Given the description of an element on the screen output the (x, y) to click on. 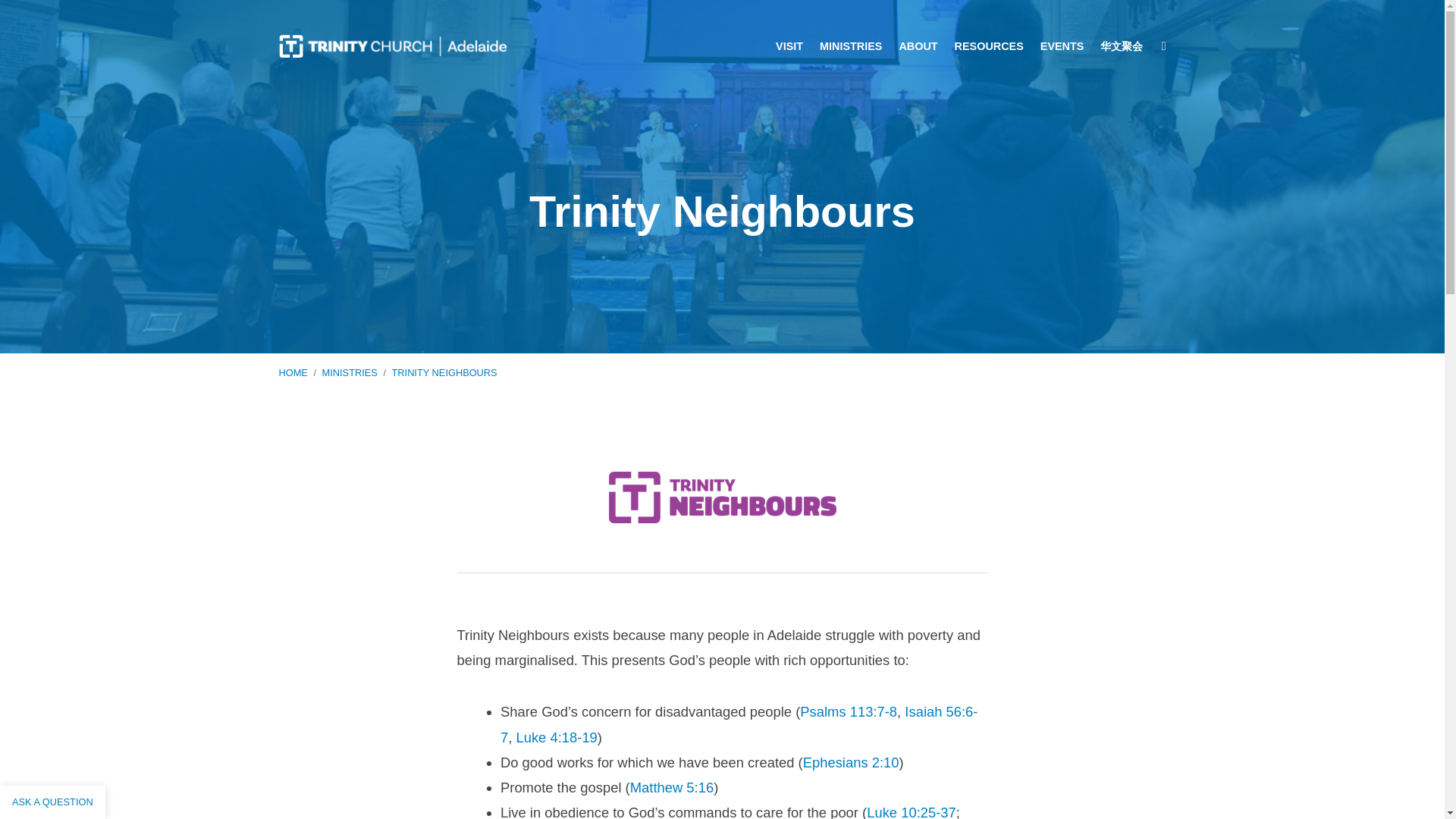
ABOUT (917, 45)
RESOURCES (989, 45)
VISIT (789, 45)
MINISTRIES (850, 45)
